Given the description of an element on the screen output the (x, y) to click on. 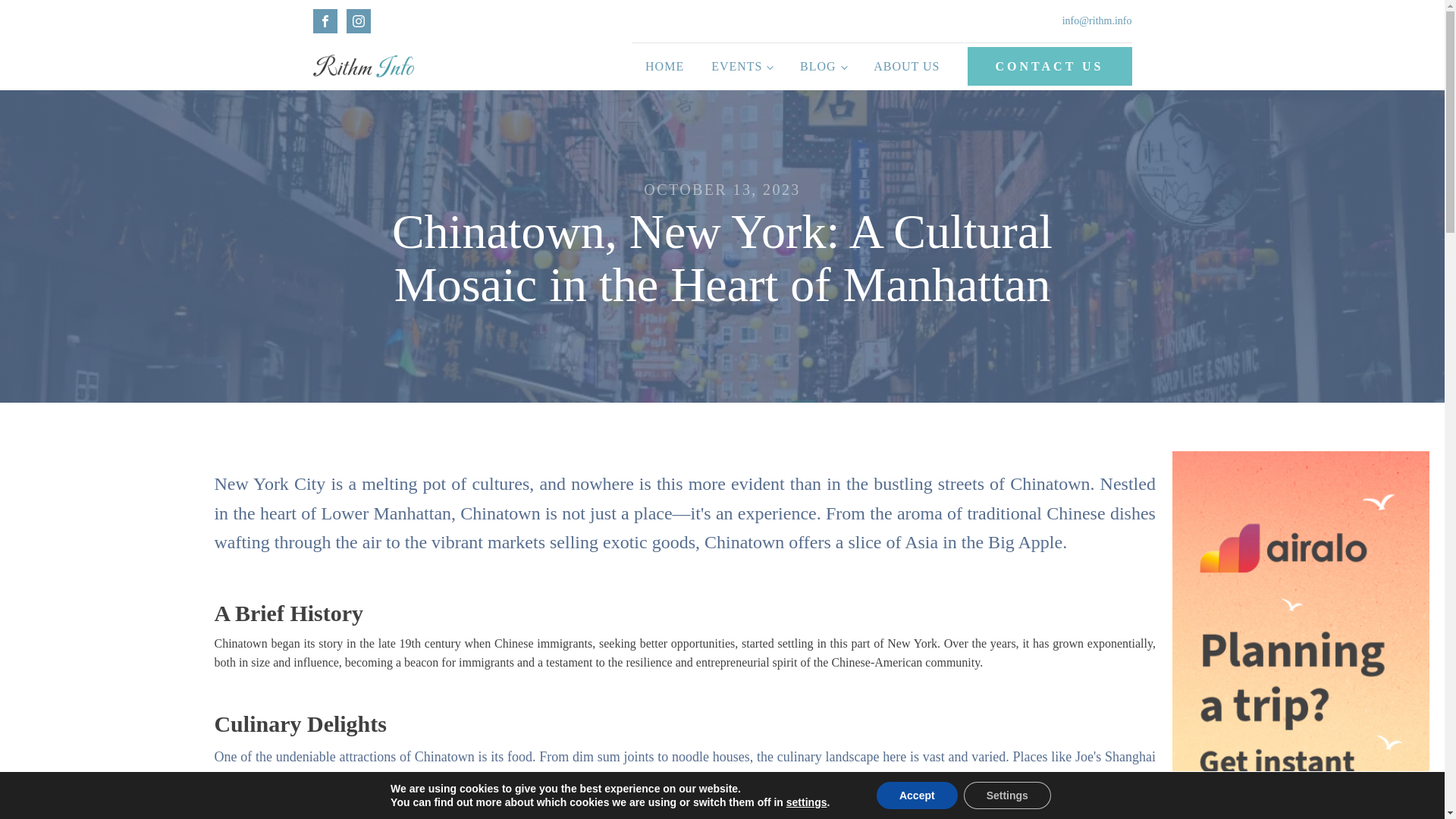
BLOG (823, 66)
ABOUT US (906, 66)
HOME (664, 66)
EVENTS (741, 66)
CONTACT US (1050, 65)
